Given the description of an element on the screen output the (x, y) to click on. 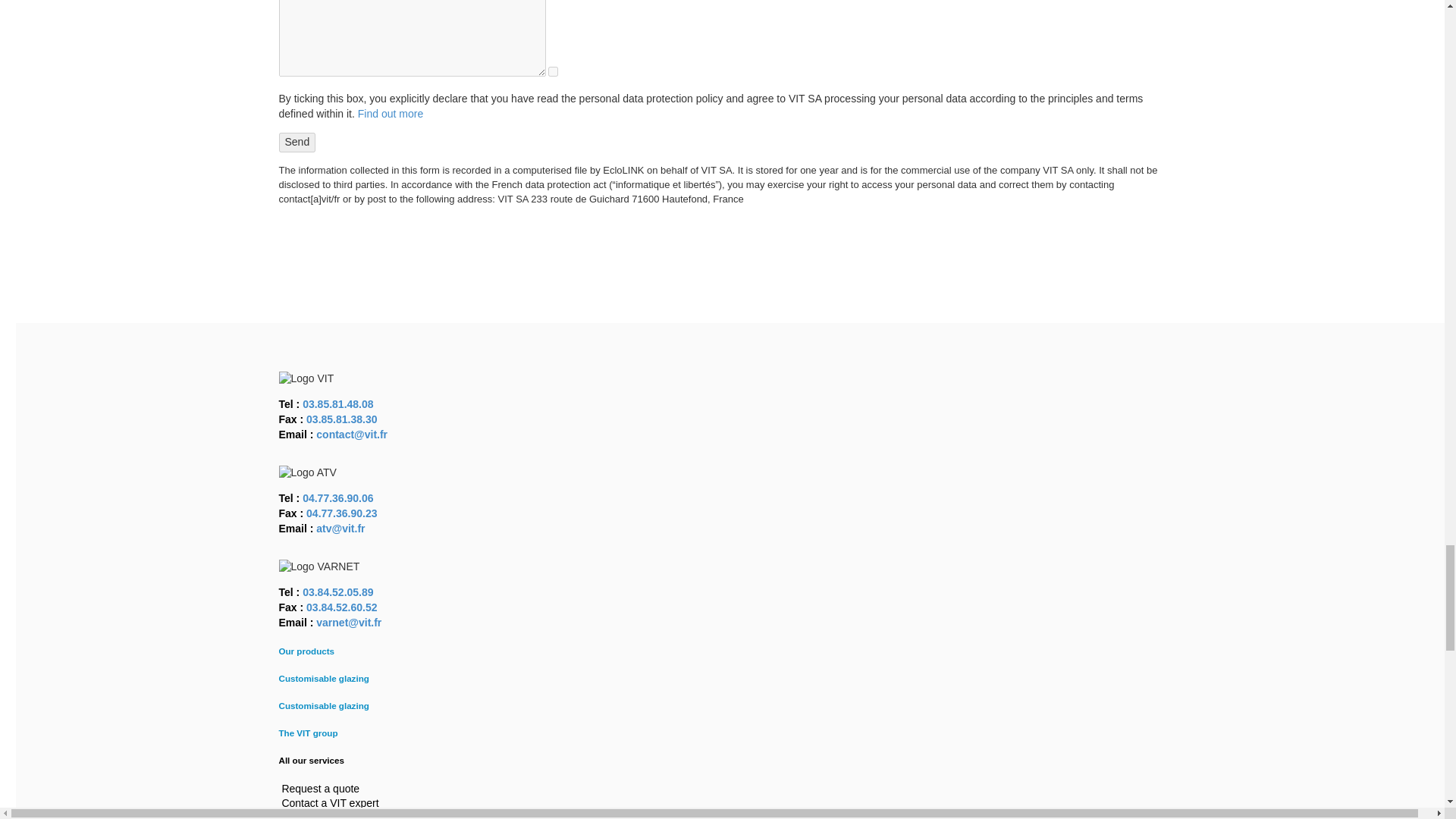
1 (552, 71)
Send (297, 142)
